Given the description of an element on the screen output the (x, y) to click on. 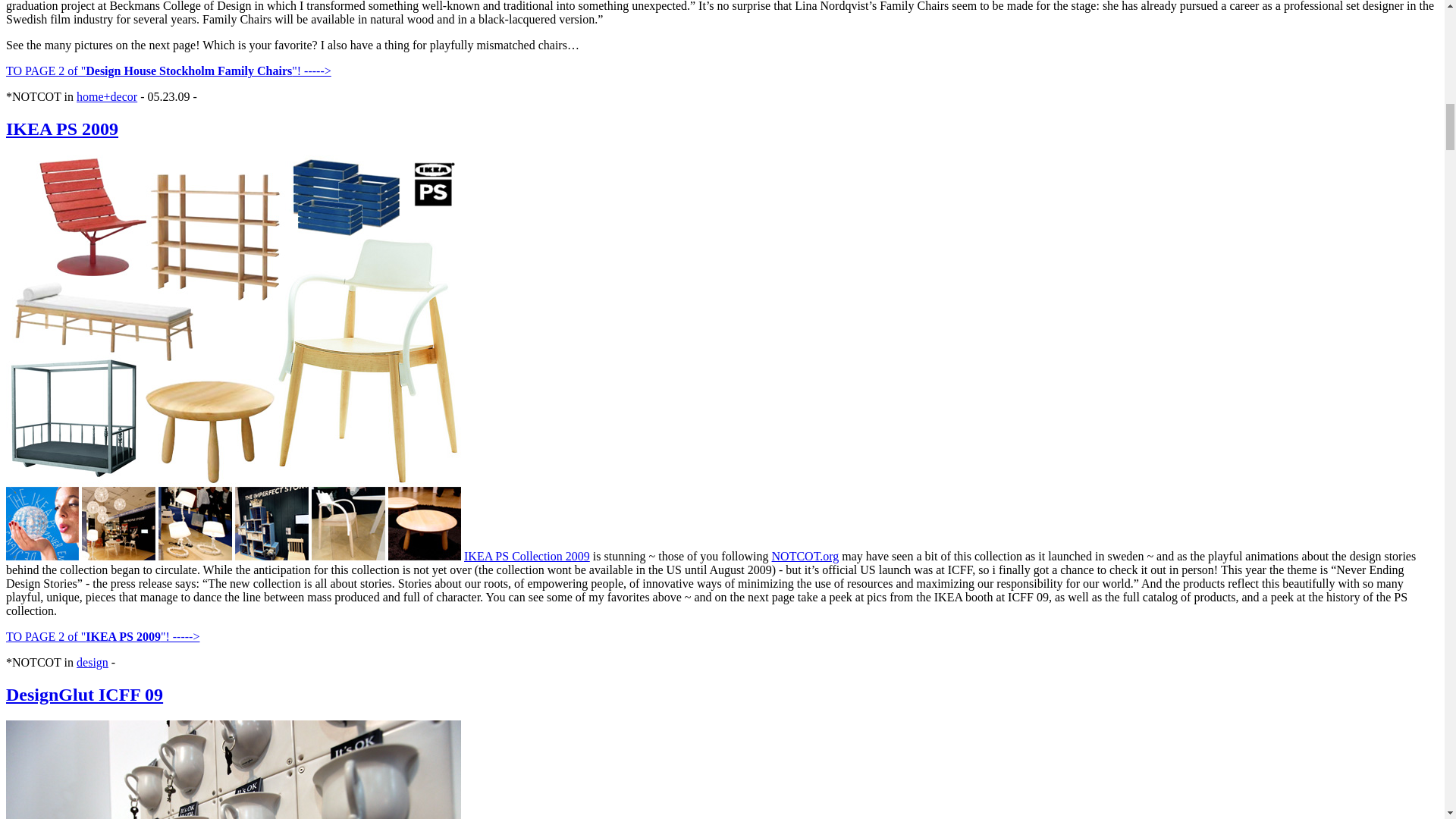
design (92, 662)
IKEA PS Collection 2009 (526, 555)
NOTCOT.org (805, 555)
IKEA PS 2009 (61, 128)
DesignGlut ICFF 09 (84, 694)
